Given the description of an element on the screen output the (x, y) to click on. 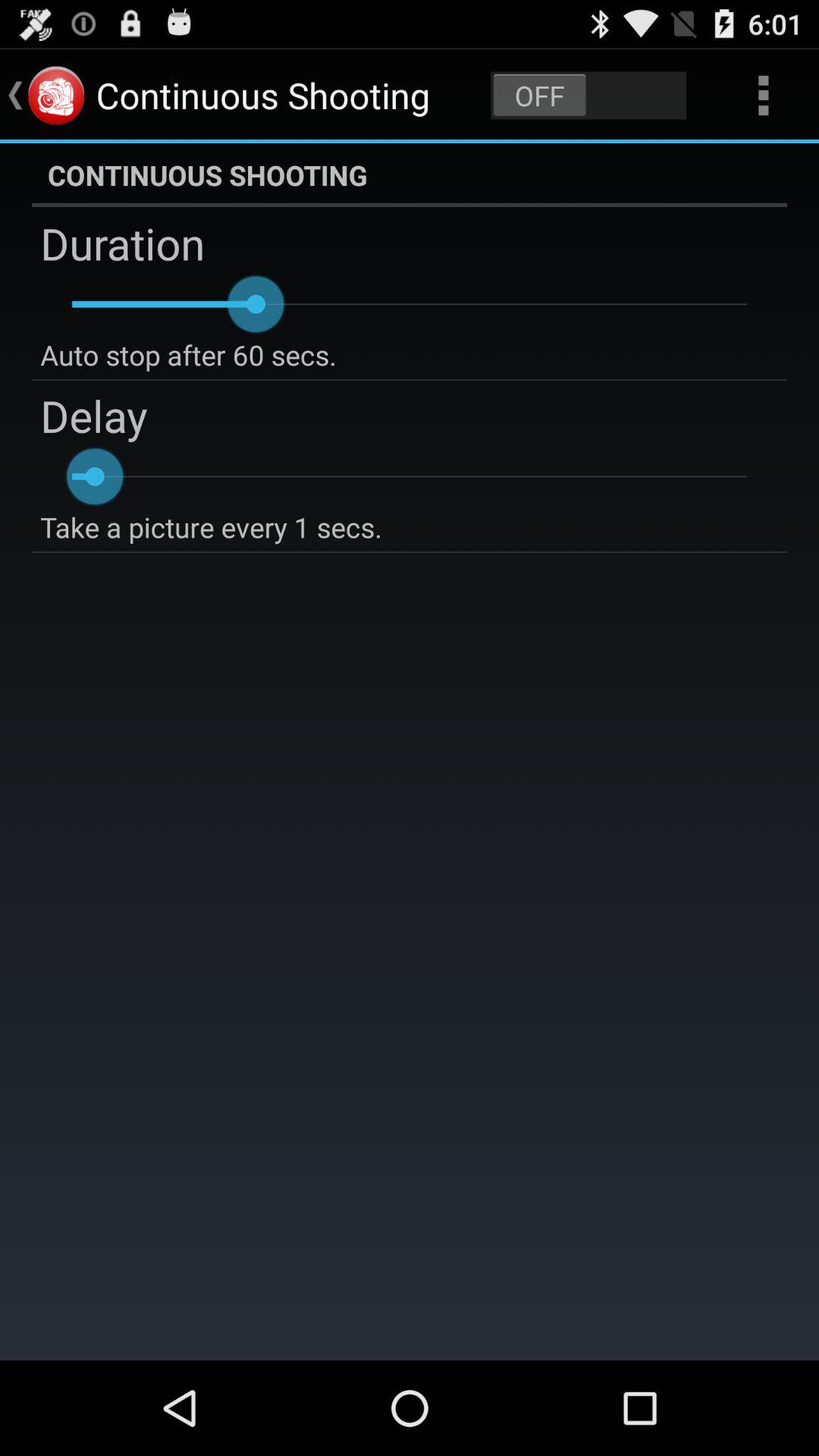
toggle the option on or off (588, 95)
